Given the description of an element on the screen output the (x, y) to click on. 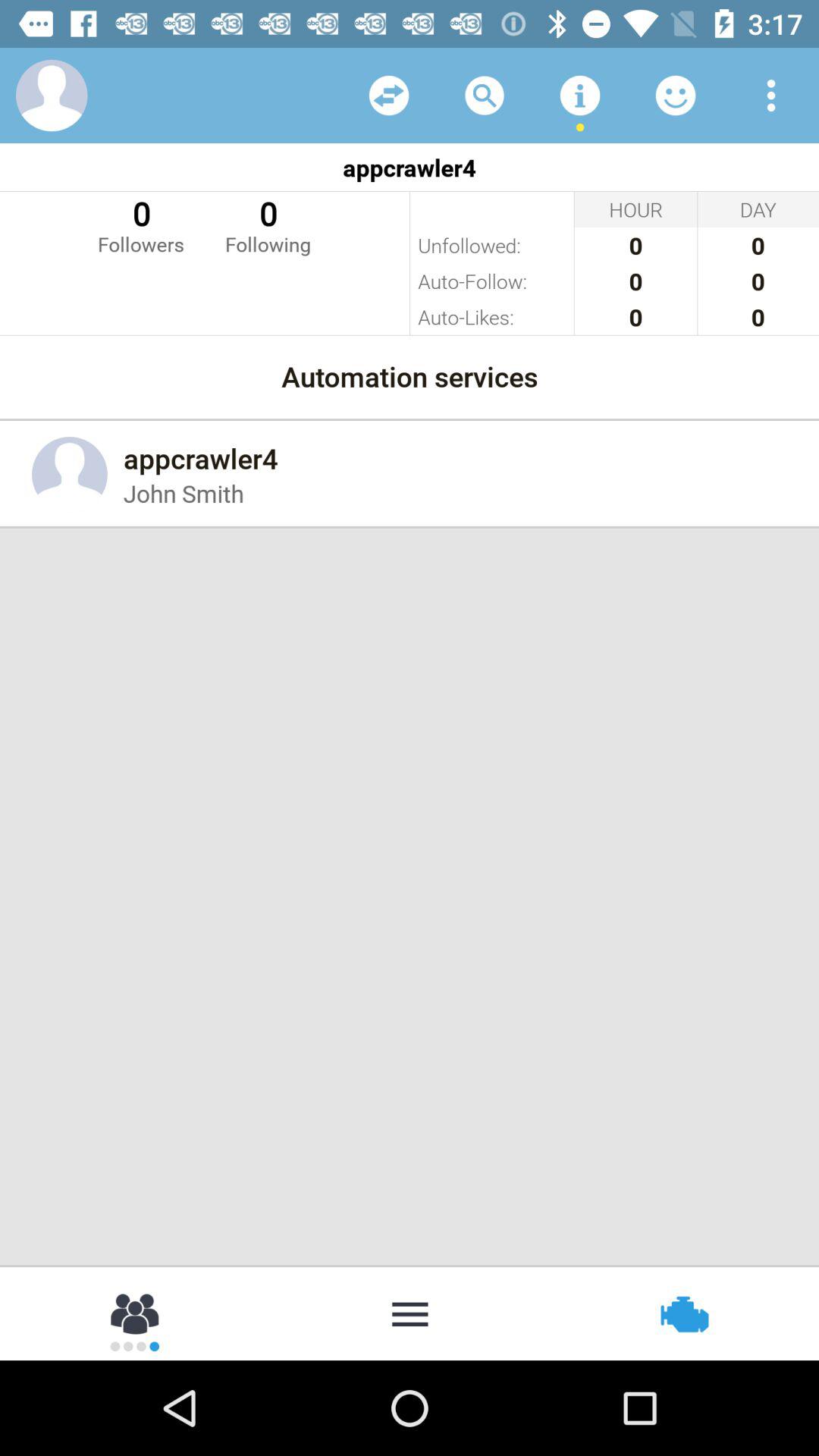
view own profile (51, 95)
